Given the description of an element on the screen output the (x, y) to click on. 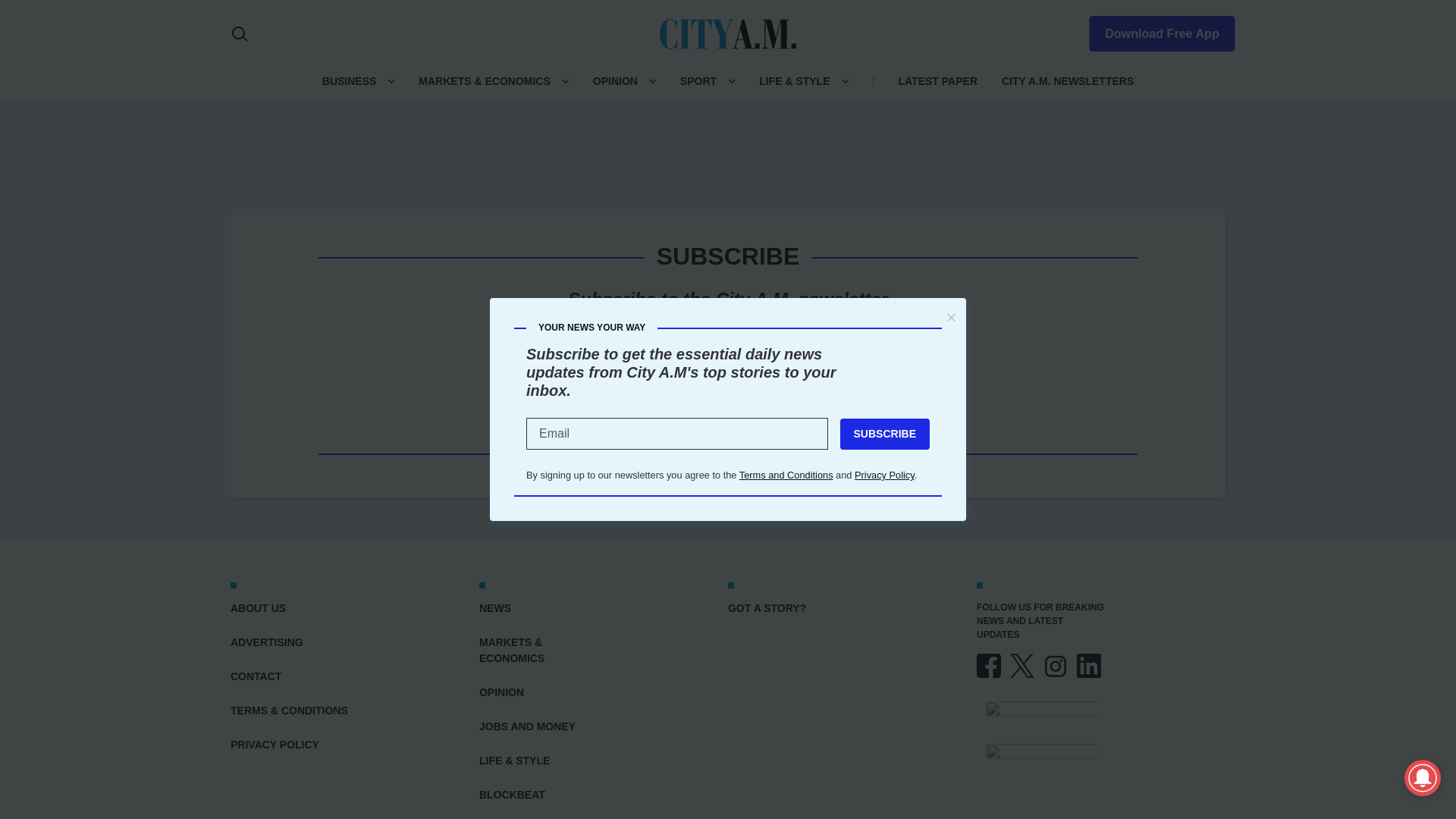
LINKEDIN (1088, 665)
INSTAGRAM (1055, 665)
FACEBOOK (988, 665)
X (1021, 665)
